Given the description of an element on the screen output the (x, y) to click on. 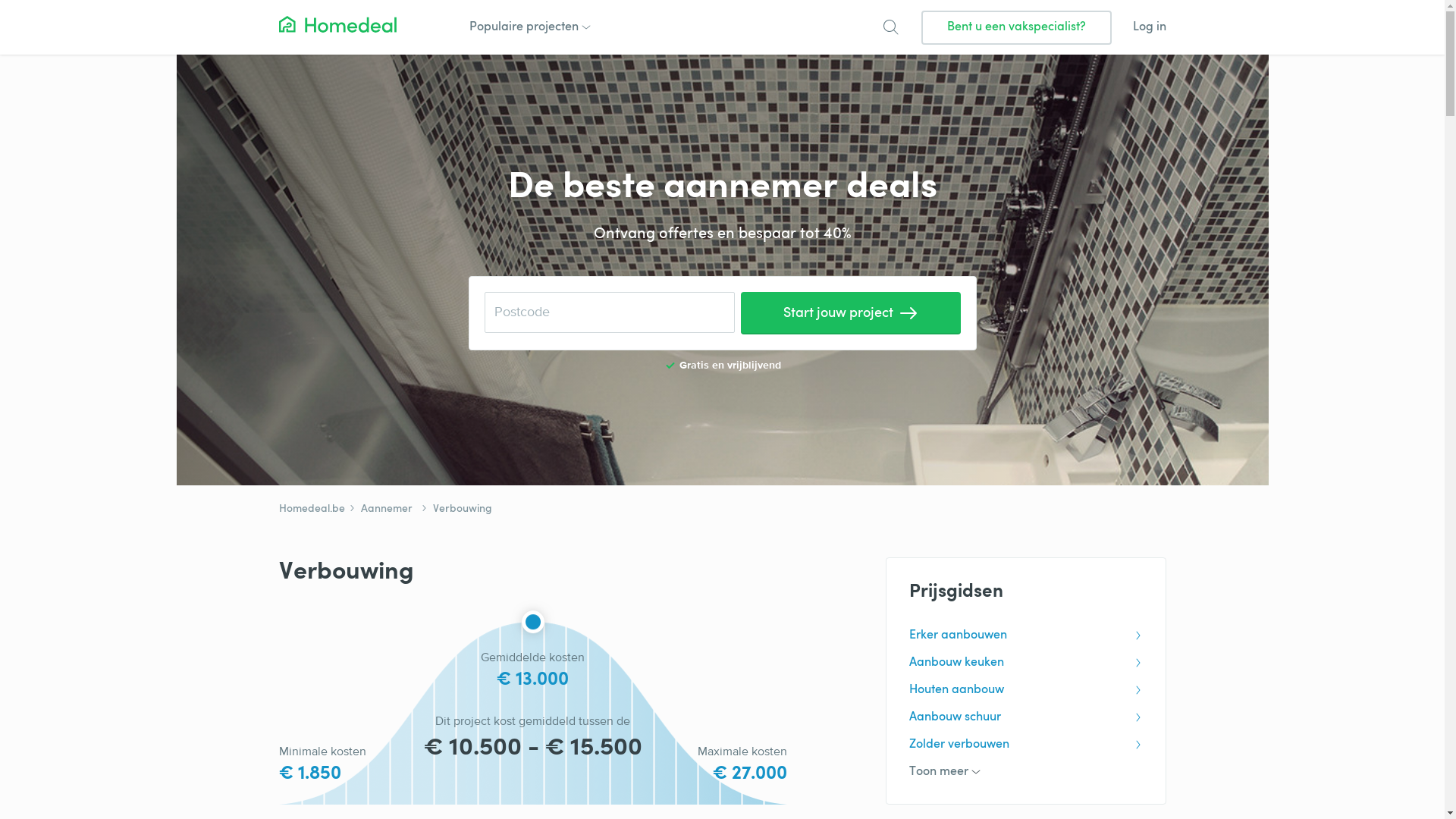
Aanbouw keuken Element type: text (1025, 662)
Log in Element type: text (1149, 27)
Populaire projecten Element type: text (527, 27)
Houten aanbouw Element type: text (1025, 689)
Start jouw project Element type: text (850, 312)
Aannemer Element type: text (379, 509)
Homedeal.be Element type: text (312, 509)
Bent u een vakspecialist? Element type: text (1015, 27)
Zolder verbouwen Element type: text (1025, 744)
Toon meer Element type: text (1025, 771)
Aanbouw schuur Element type: text (1025, 717)
Erker aanbouwen Element type: text (1025, 635)
